Given the description of an element on the screen output the (x, y) to click on. 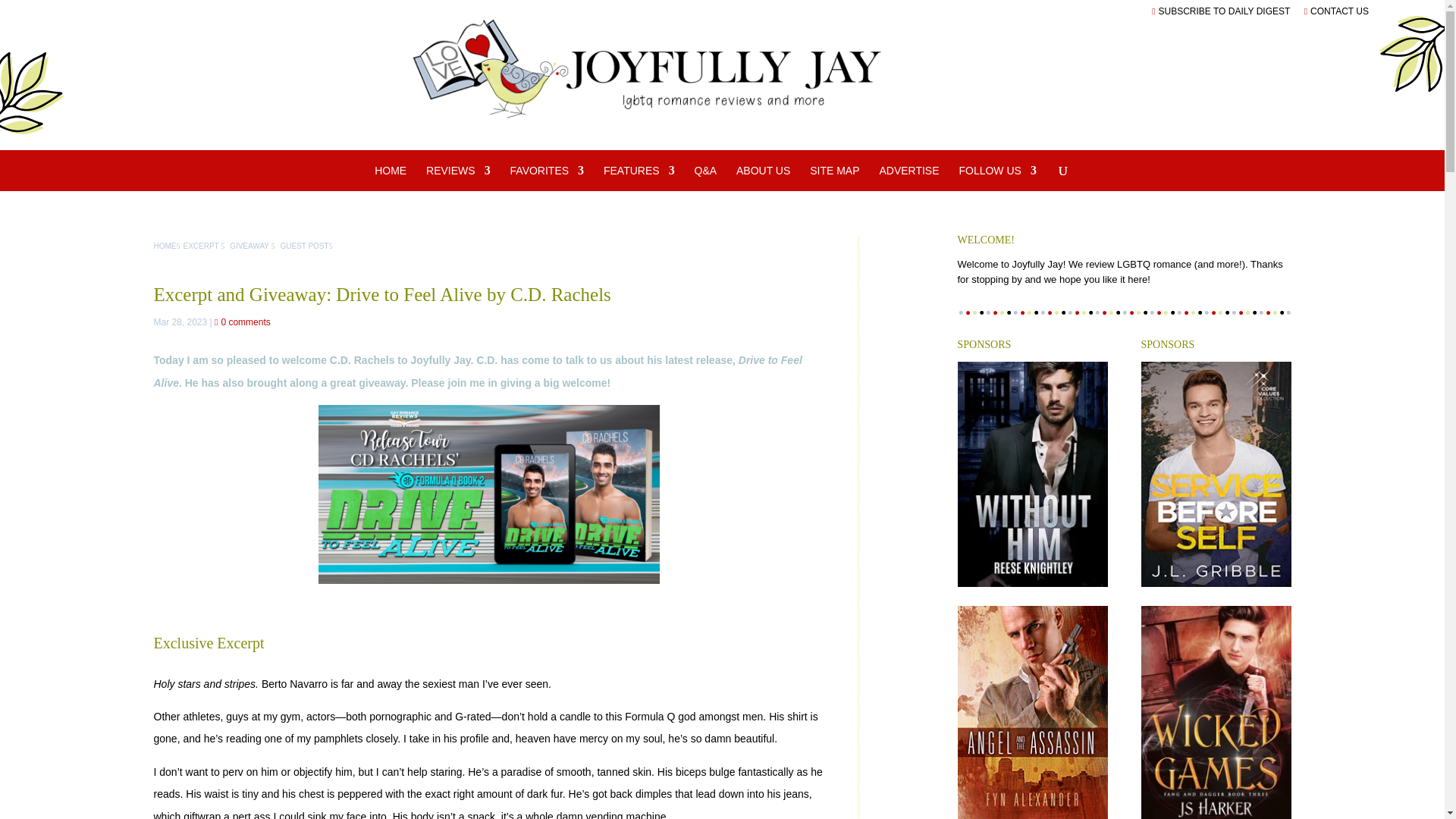
HOME (390, 177)
CONTACT US (1336, 10)
REVIEWS (458, 177)
SUBSCRIBE TO DAILY DIGEST (1220, 10)
